Given the description of an element on the screen output the (x, y) to click on. 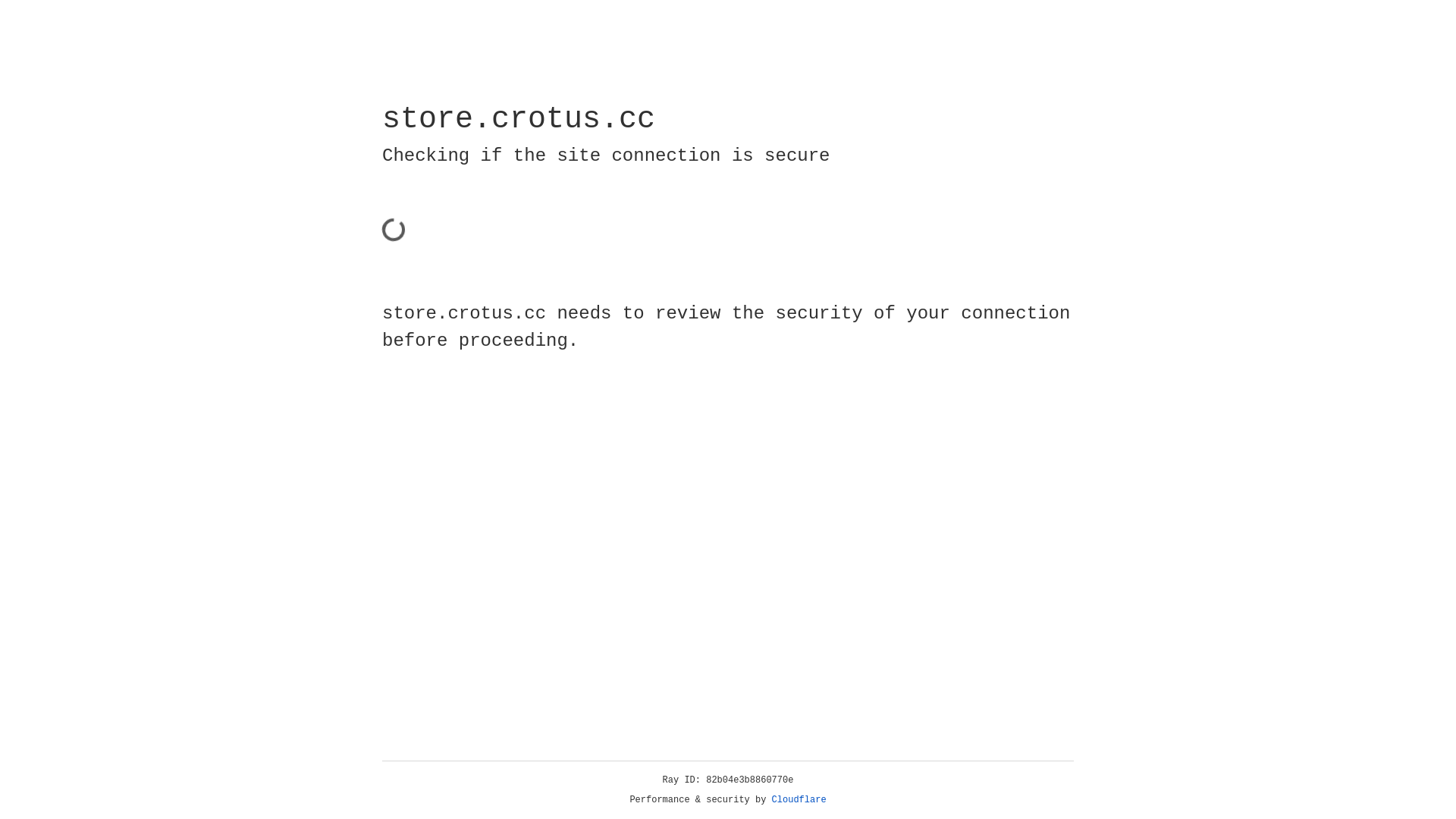
Cloudflare Element type: text (798, 799)
